Given the description of an element on the screen output the (x, y) to click on. 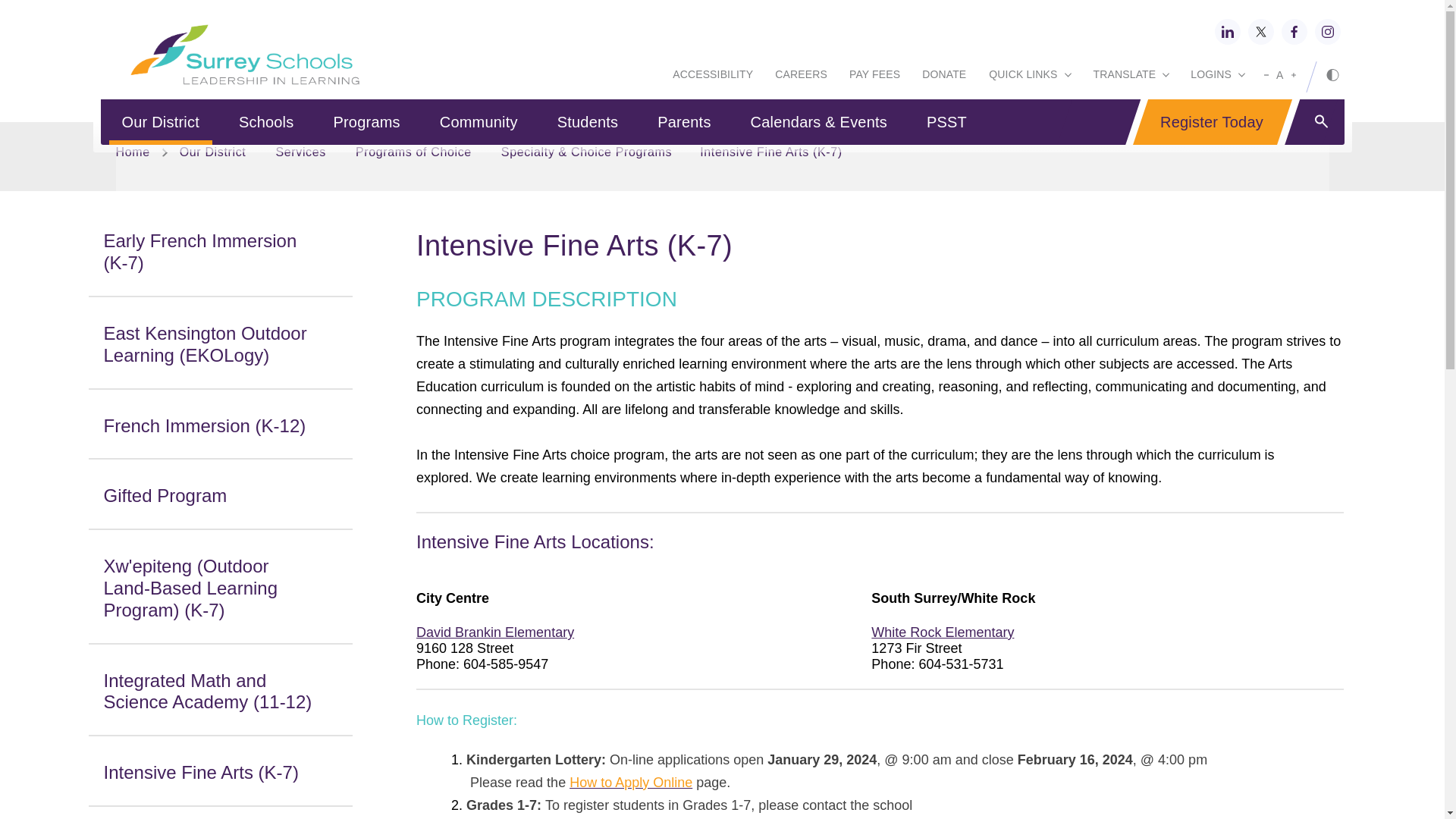
CAREERS (801, 76)
QUICK LINKS (1028, 76)
PAY FEES (875, 76)
ACCESSIBILITY (712, 76)
DONATE (943, 76)
